Given the description of an element on the screen output the (x, y) to click on. 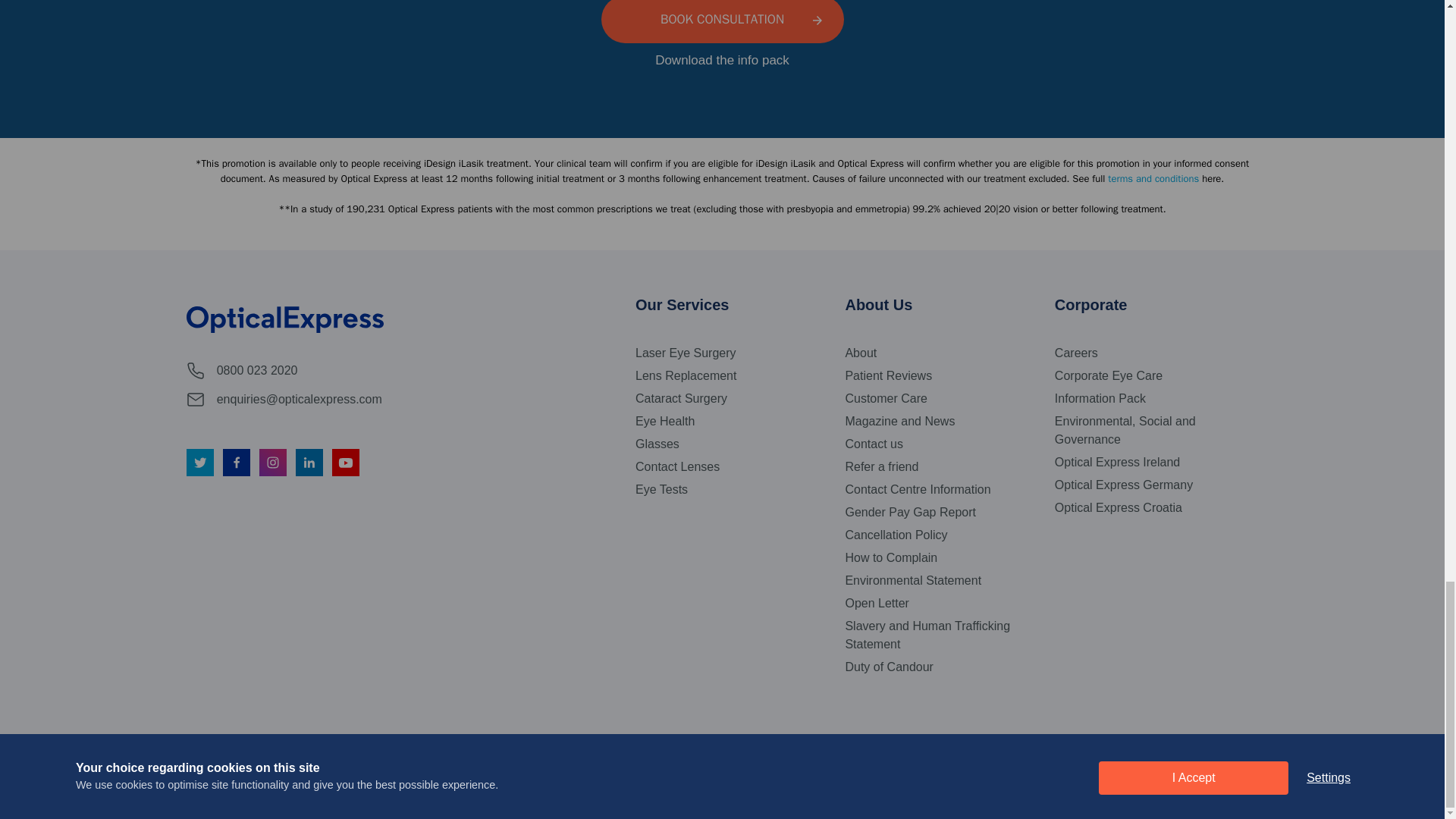
Cataract Surgery (680, 398)
Eye Tests (660, 489)
About (860, 352)
LinkedIn (309, 461)
Lens Replacement (685, 375)
Patient Reviews (887, 375)
Contact Lenses (676, 466)
Twitter (200, 461)
YouTube (345, 461)
Eye Health (664, 421)
